Given the description of an element on the screen output the (x, y) to click on. 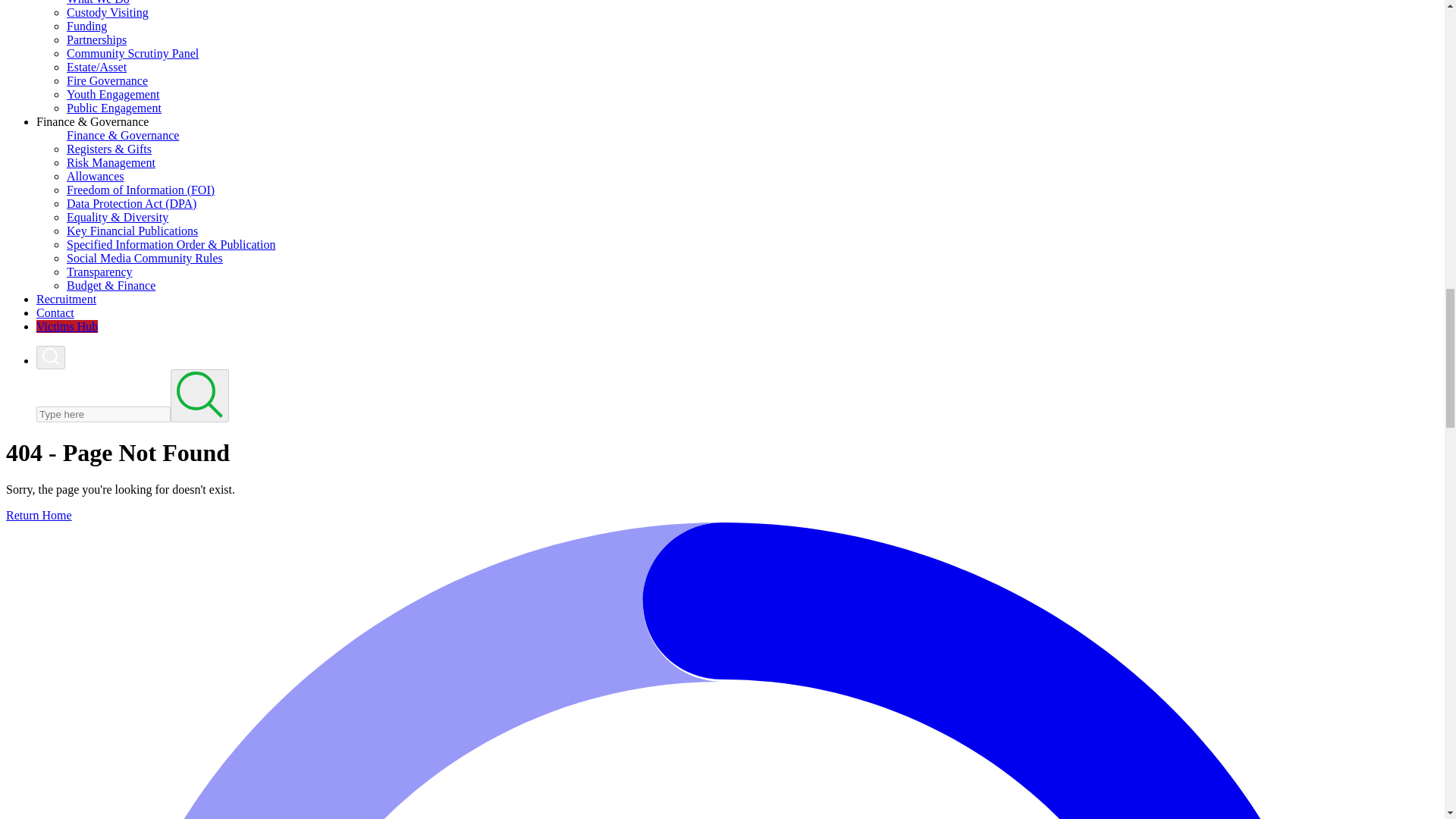
Community Scrutiny Panel (132, 52)
Youth Engagement (112, 93)
Partnerships (96, 39)
What We Do (97, 2)
Public Engagement (113, 107)
Custody Visiting (107, 11)
Transparency (99, 271)
Victims Hub (66, 326)
Social Media Community Rules (144, 257)
Risk Management (110, 162)
